Given the description of an element on the screen output the (x, y) to click on. 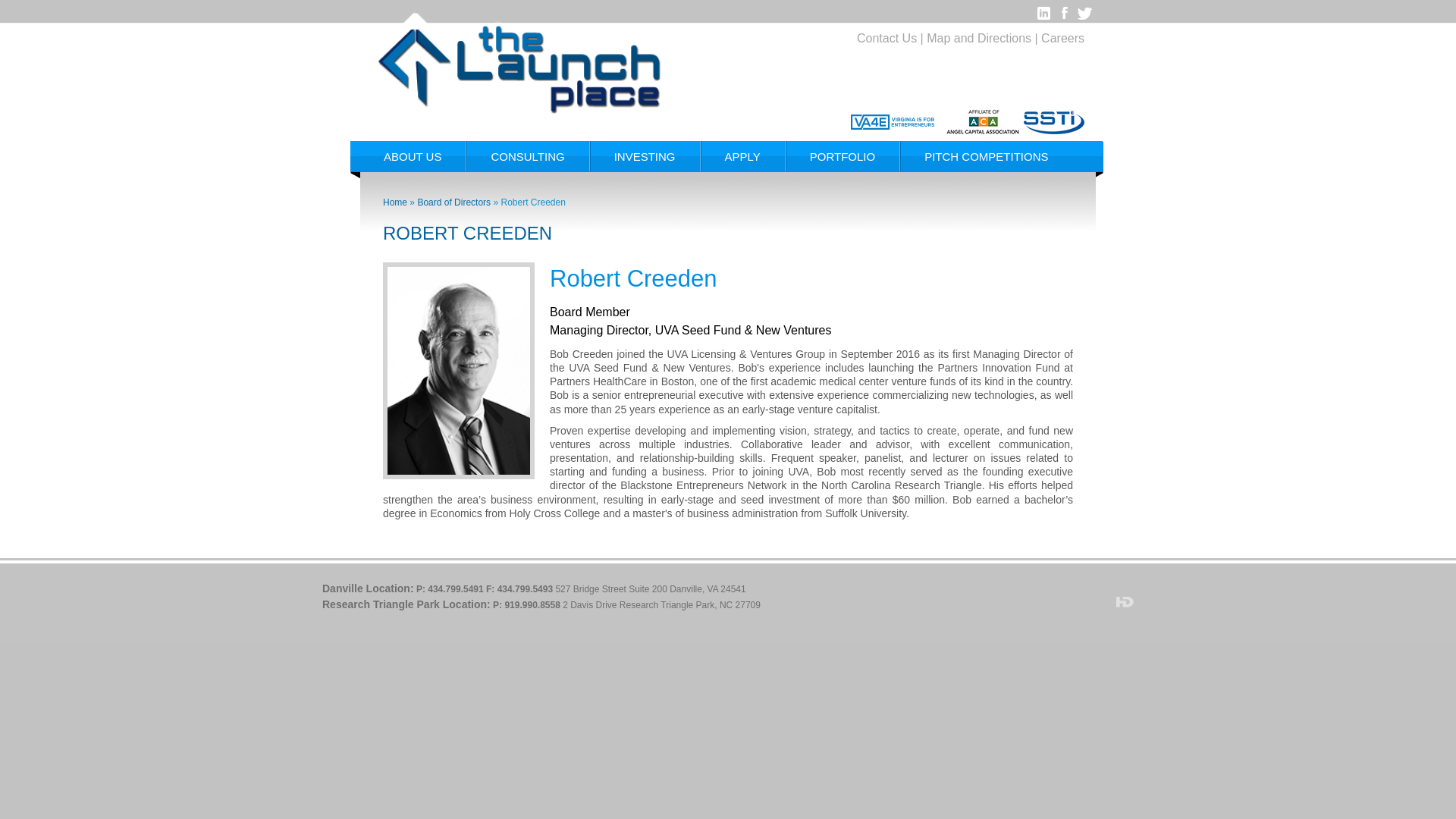
Contact Us (887, 38)
Home (394, 202)
PORTFOLIO (842, 155)
ABOUT US (412, 155)
Board of Directors (453, 202)
CONSULTING (527, 155)
Careers (1062, 38)
INVESTING (645, 155)
Map and Directions (978, 38)
APPLY (742, 155)
PITCH COMPETITIONS (986, 155)
